Given the description of an element on the screen output the (x, y) to click on. 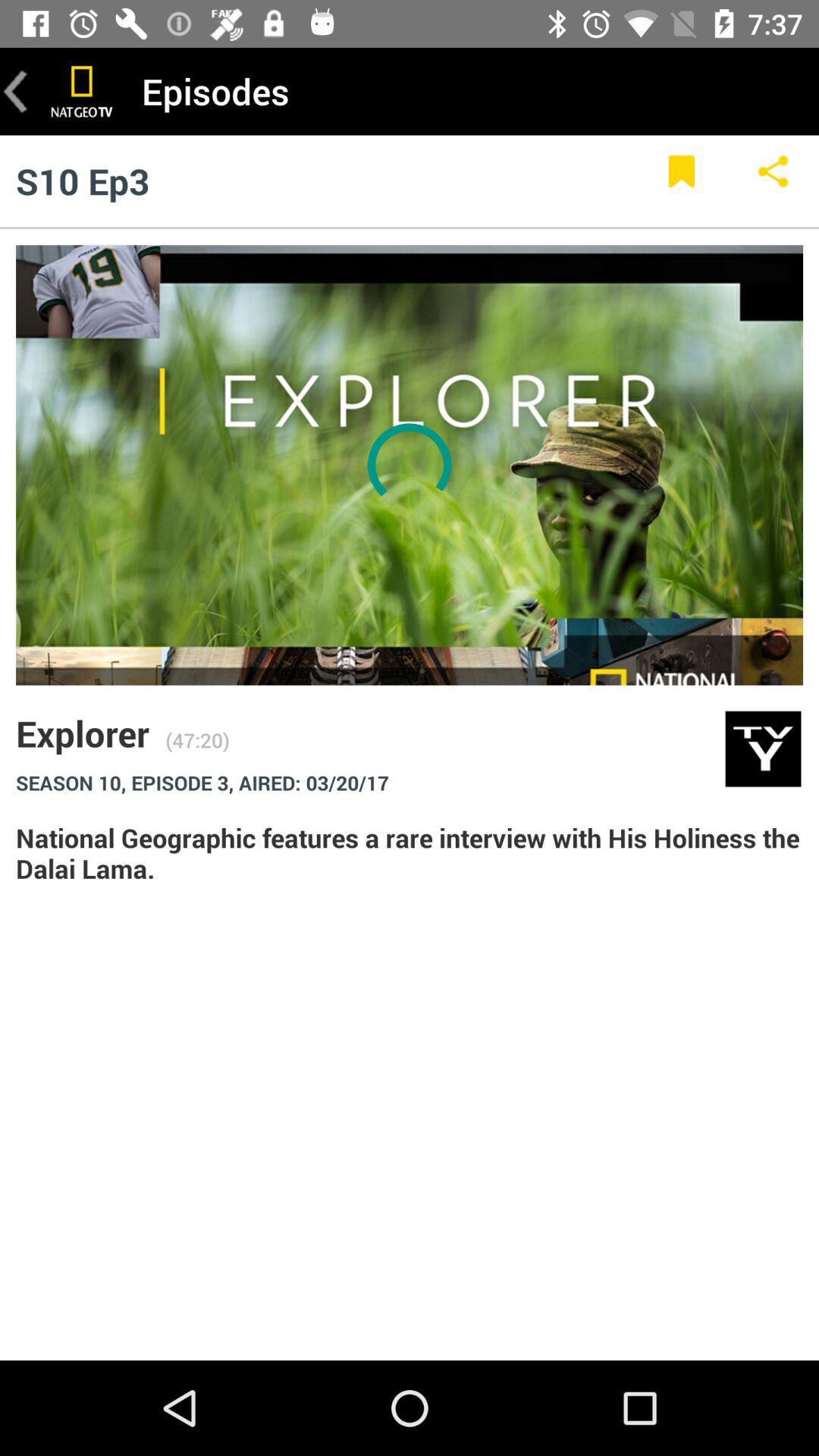
share this (773, 180)
